Given the description of an element on the screen output the (x, y) to click on. 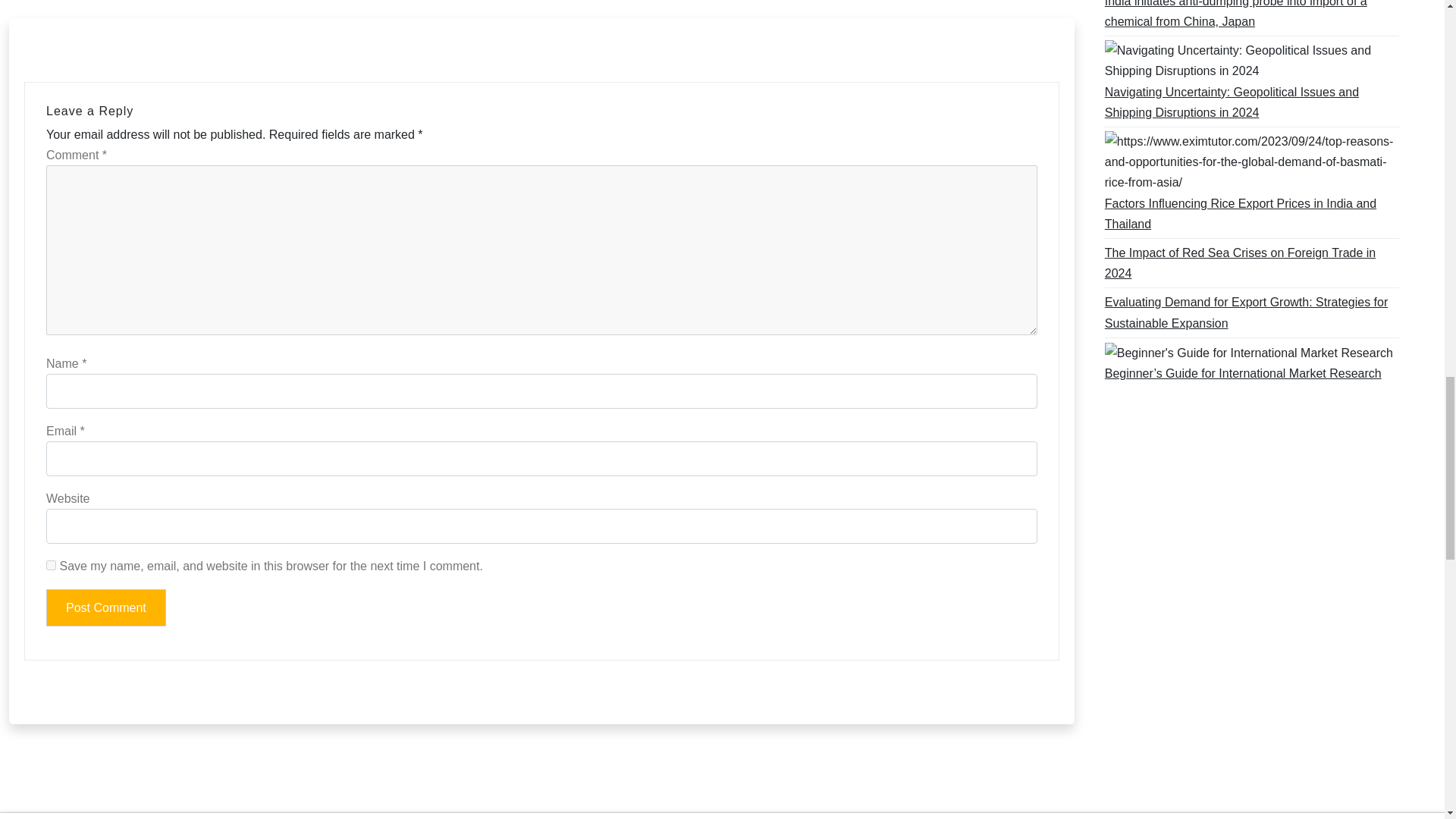
yes (51, 565)
Post Comment (105, 607)
